Given the description of an element on the screen output the (x, y) to click on. 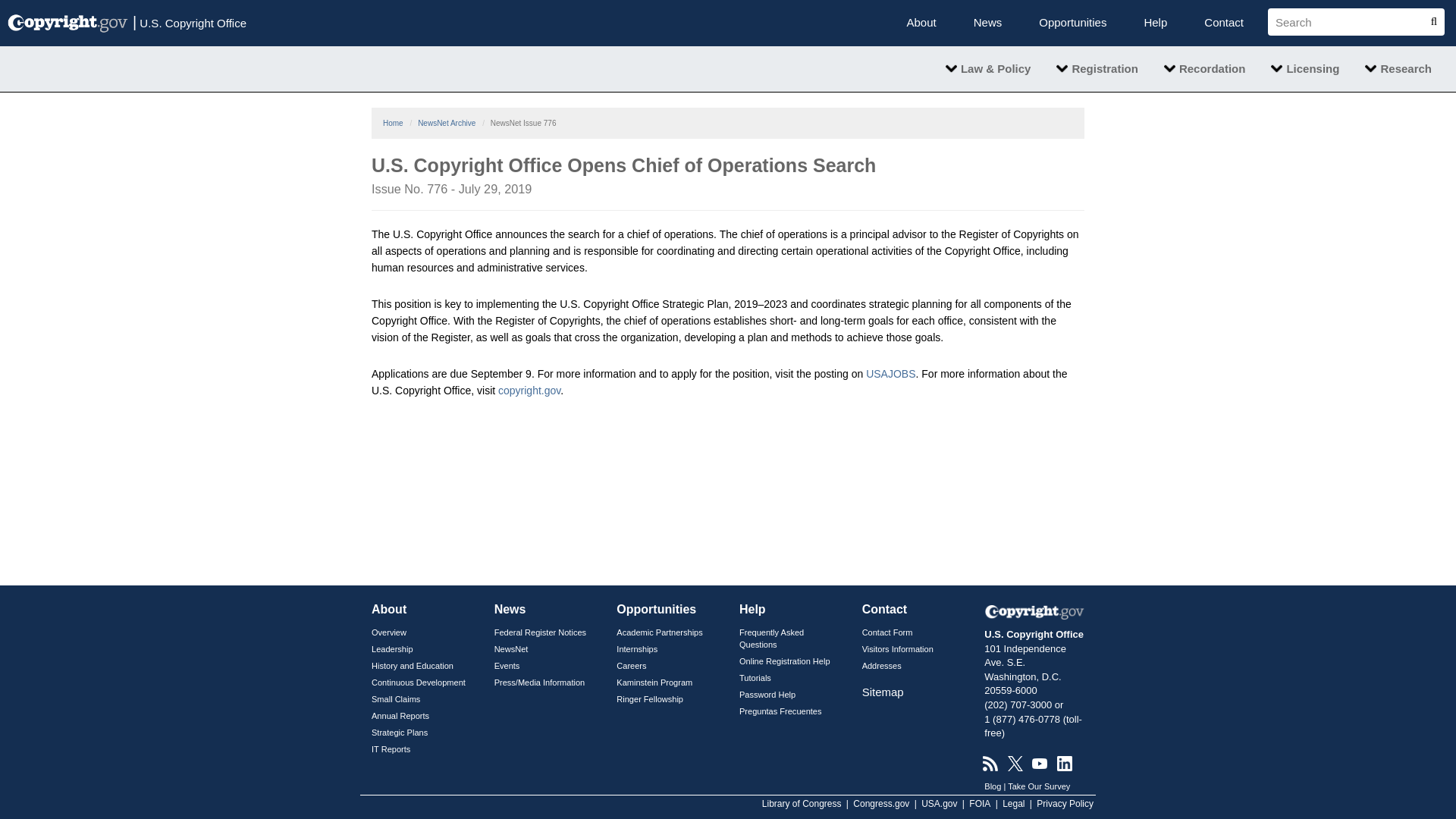
News (987, 22)
Opportunities (1072, 22)
Registration (1097, 68)
Contact (1223, 22)
Help (1155, 22)
About (921, 22)
Search Copyright.gov (1350, 22)
